Given the description of an element on the screen output the (x, y) to click on. 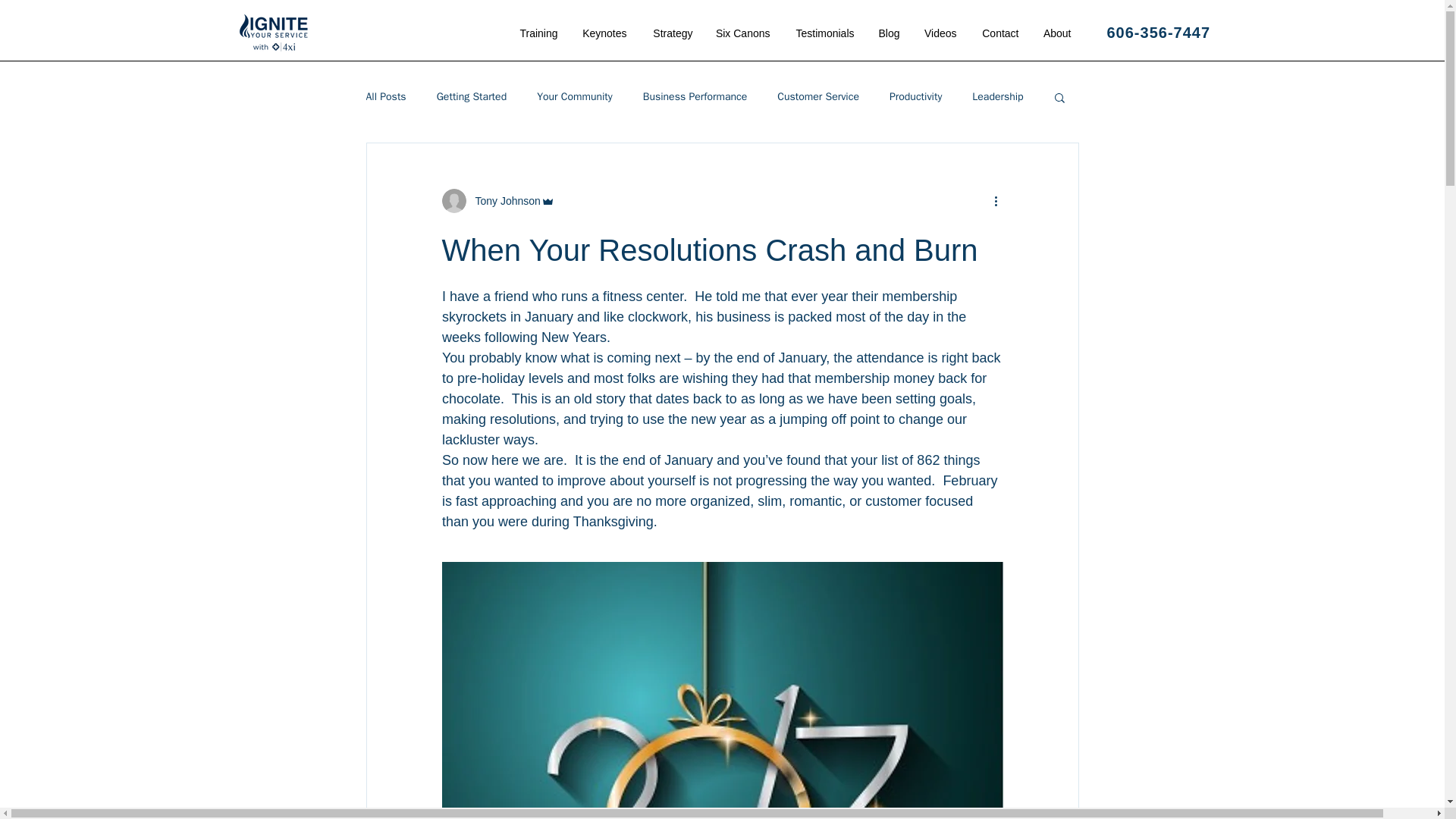
Blog (888, 33)
Customer Service (818, 97)
All Posts (385, 97)
Keynotes (603, 33)
Training (537, 33)
Leadership (997, 97)
Strategy (671, 33)
Tony Johnson (497, 200)
About (1055, 33)
Testimonials (822, 33)
Your Community (574, 97)
Videos (939, 33)
Productivity (915, 97)
Tony Johnson (502, 200)
Getting Started (471, 97)
